Given the description of an element on the screen output the (x, y) to click on. 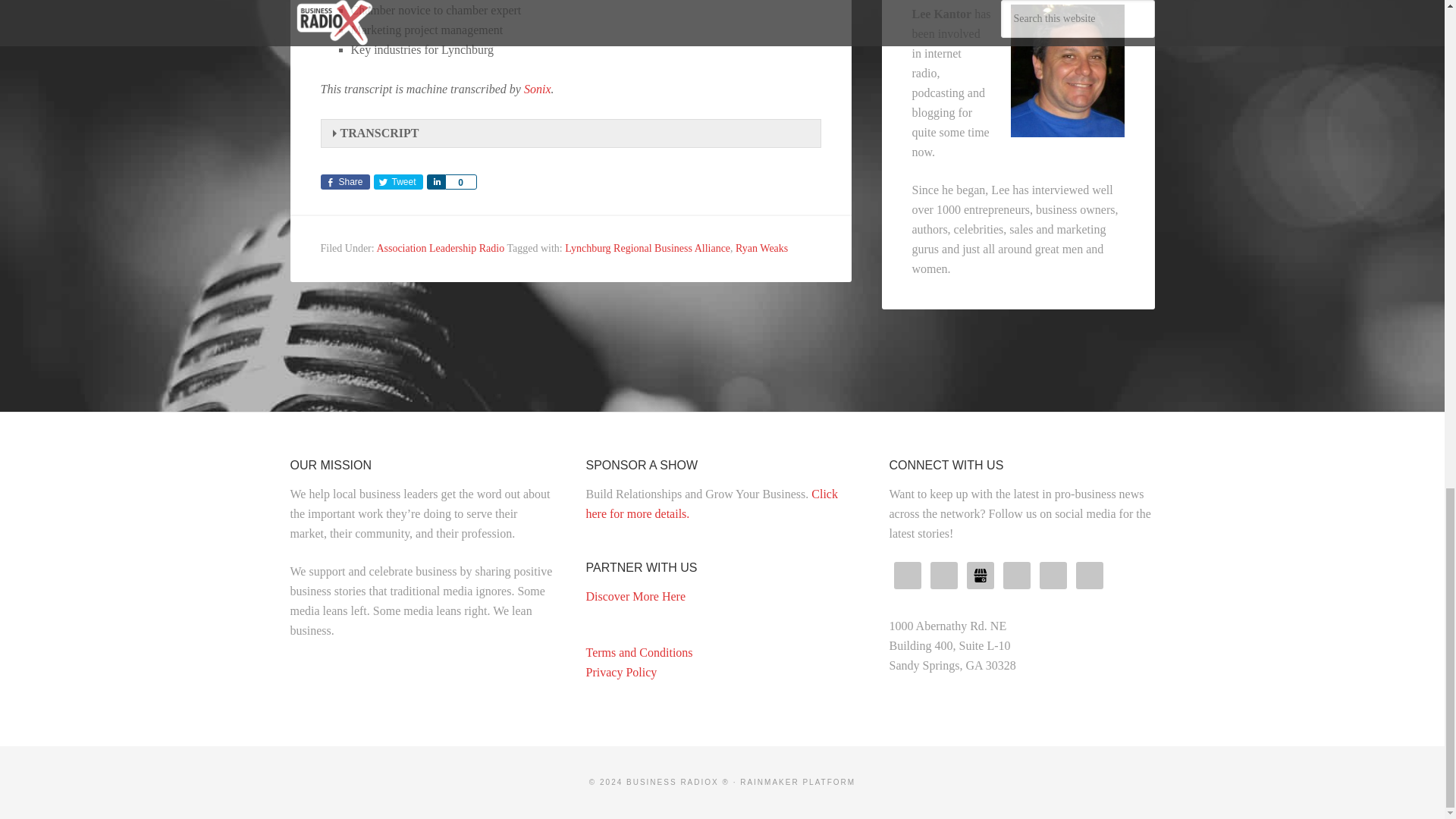
Google my business (979, 574)
